Given the description of an element on the screen output the (x, y) to click on. 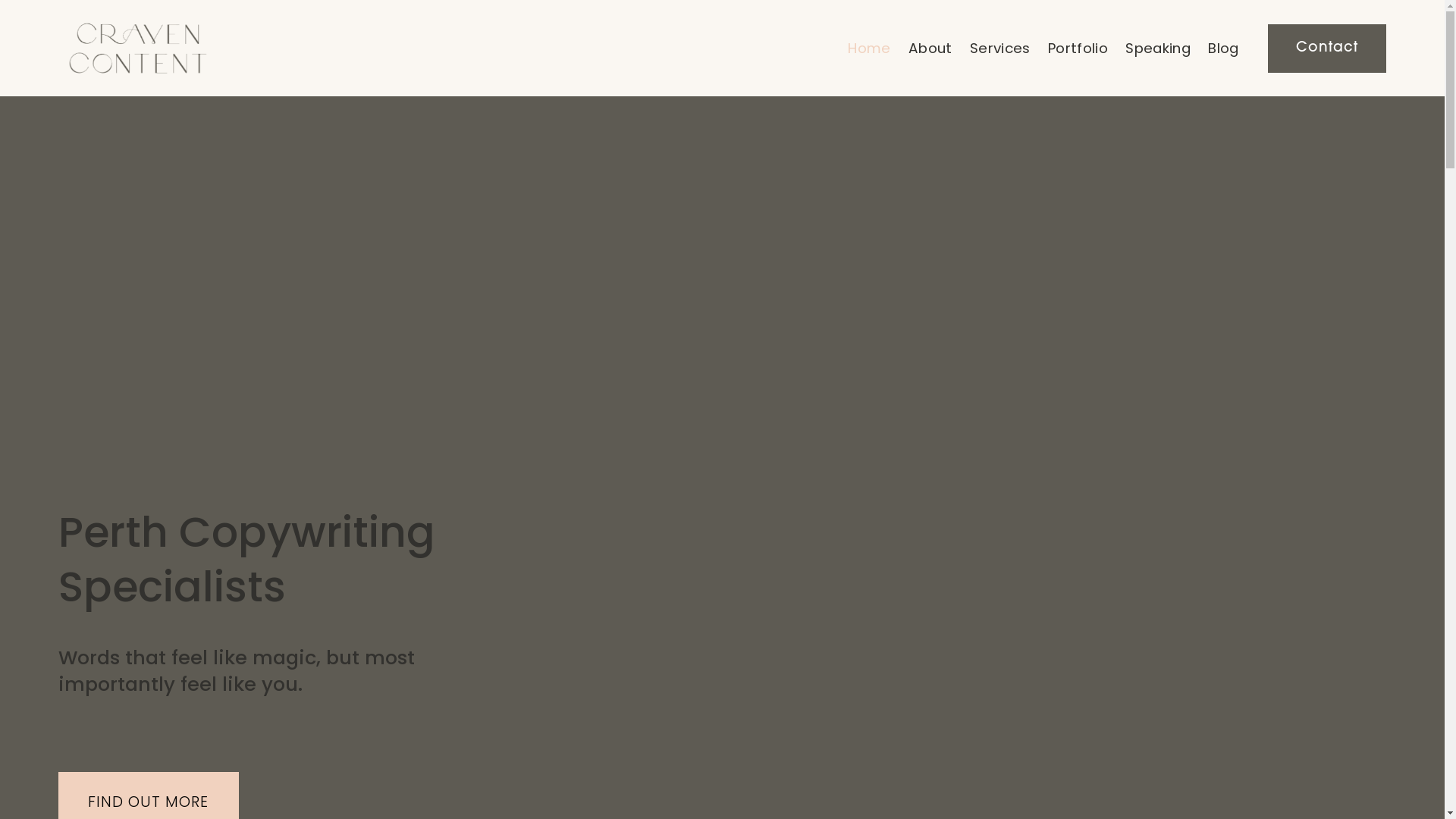
Home Element type: text (869, 48)
Blog Element type: text (1223, 48)
About Element type: text (930, 48)
Speaking Element type: text (1157, 48)
Services Element type: text (999, 48)
Portfolio Element type: text (1077, 48)
Contact Element type: text (1326, 48)
